Given the description of an element on the screen output the (x, y) to click on. 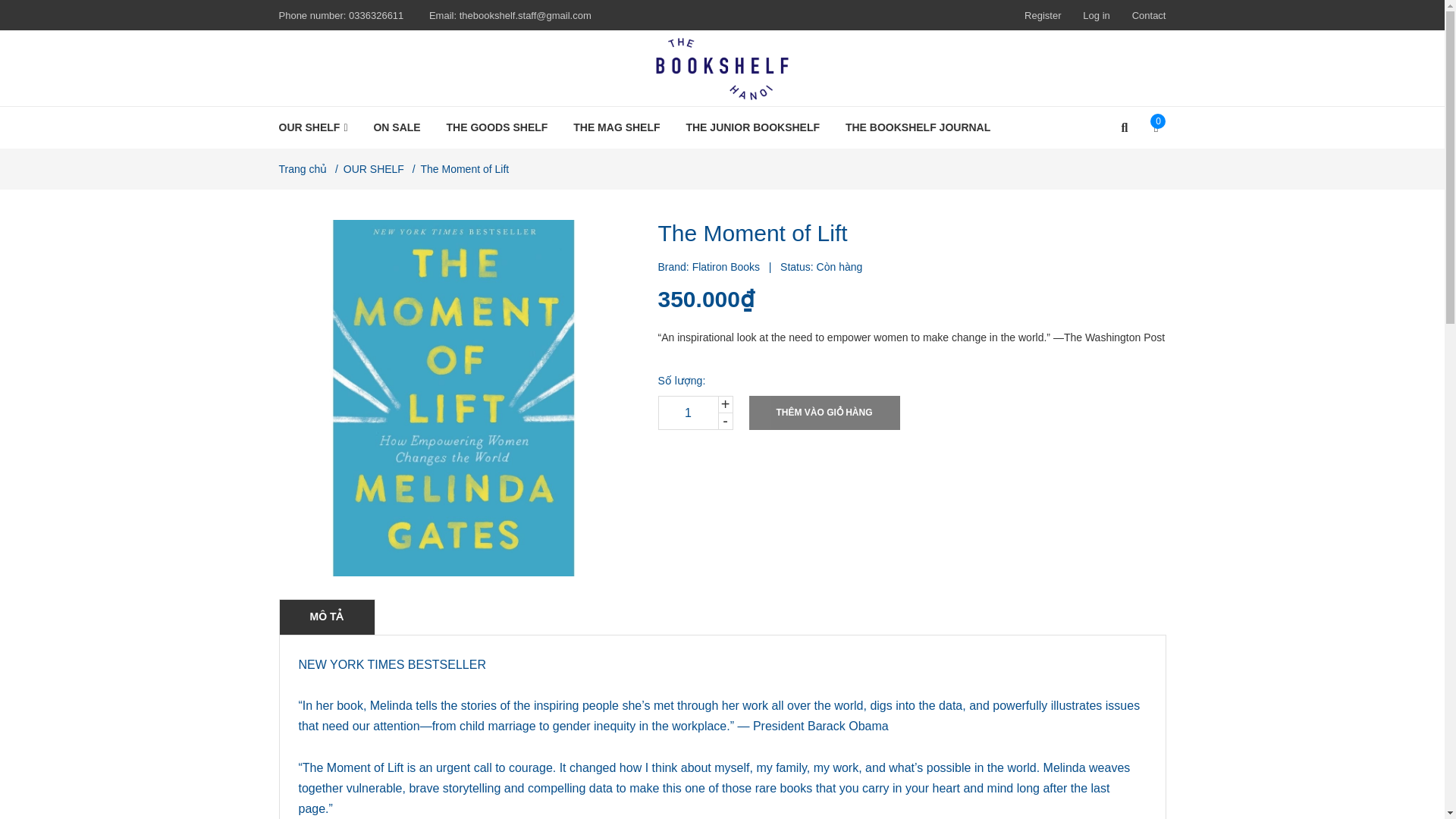
ON SALE (395, 127)
1 (688, 412)
THE JUNIOR BOOKSHELF (752, 127)
OUR SHELF (319, 127)
0 (1151, 127)
Register (1043, 15)
Contact (1149, 15)
OUR SHELF (319, 127)
THE GOODS SHELF (497, 127)
Log in (1096, 15)
THE BOOKSHELF JOURNAL (917, 127)
0336326611 (376, 15)
THE MAG SHELF (616, 127)
